Given the description of an element on the screen output the (x, y) to click on. 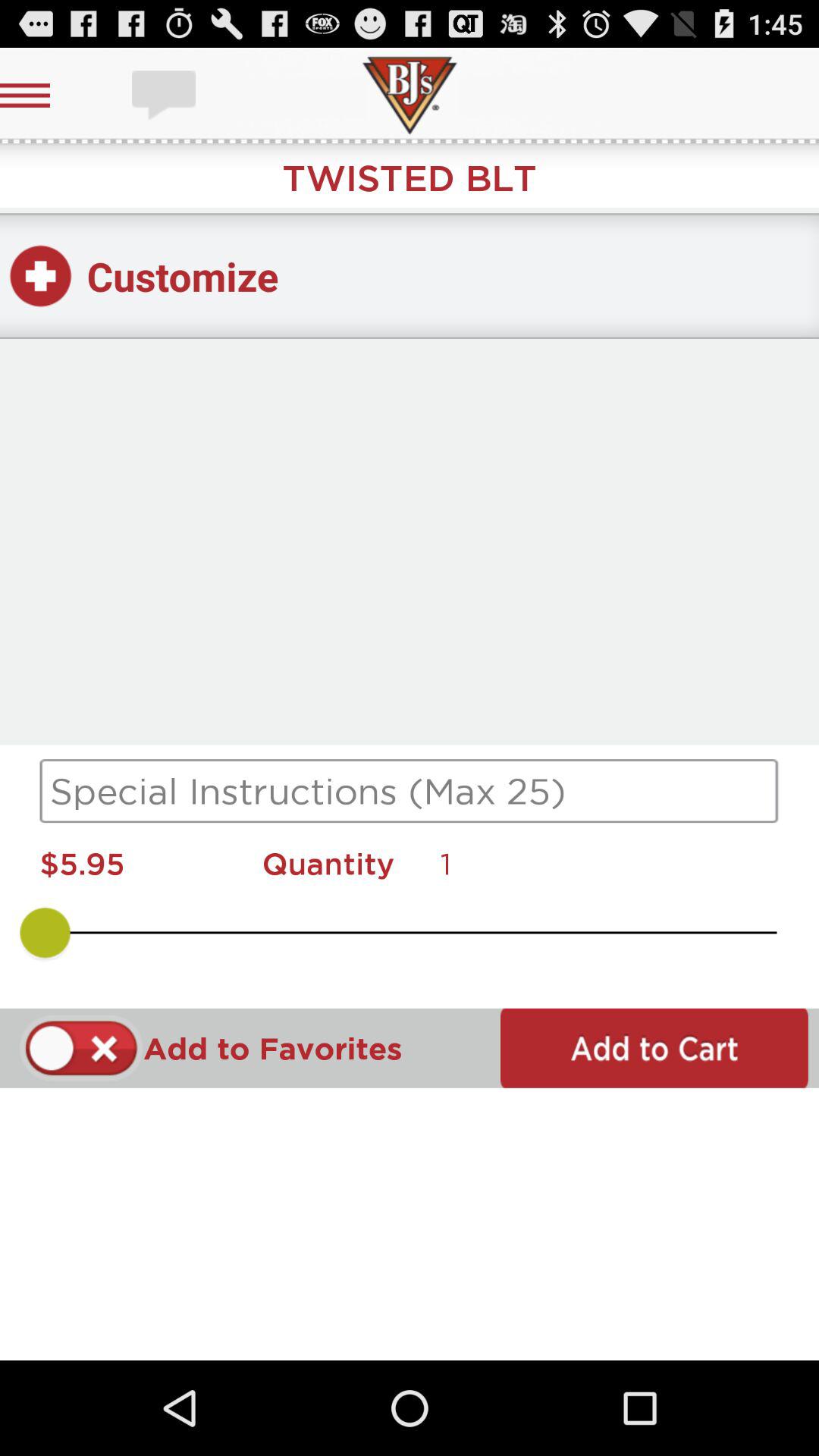
go to close botten (81, 1048)
